Given the description of an element on the screen output the (x, y) to click on. 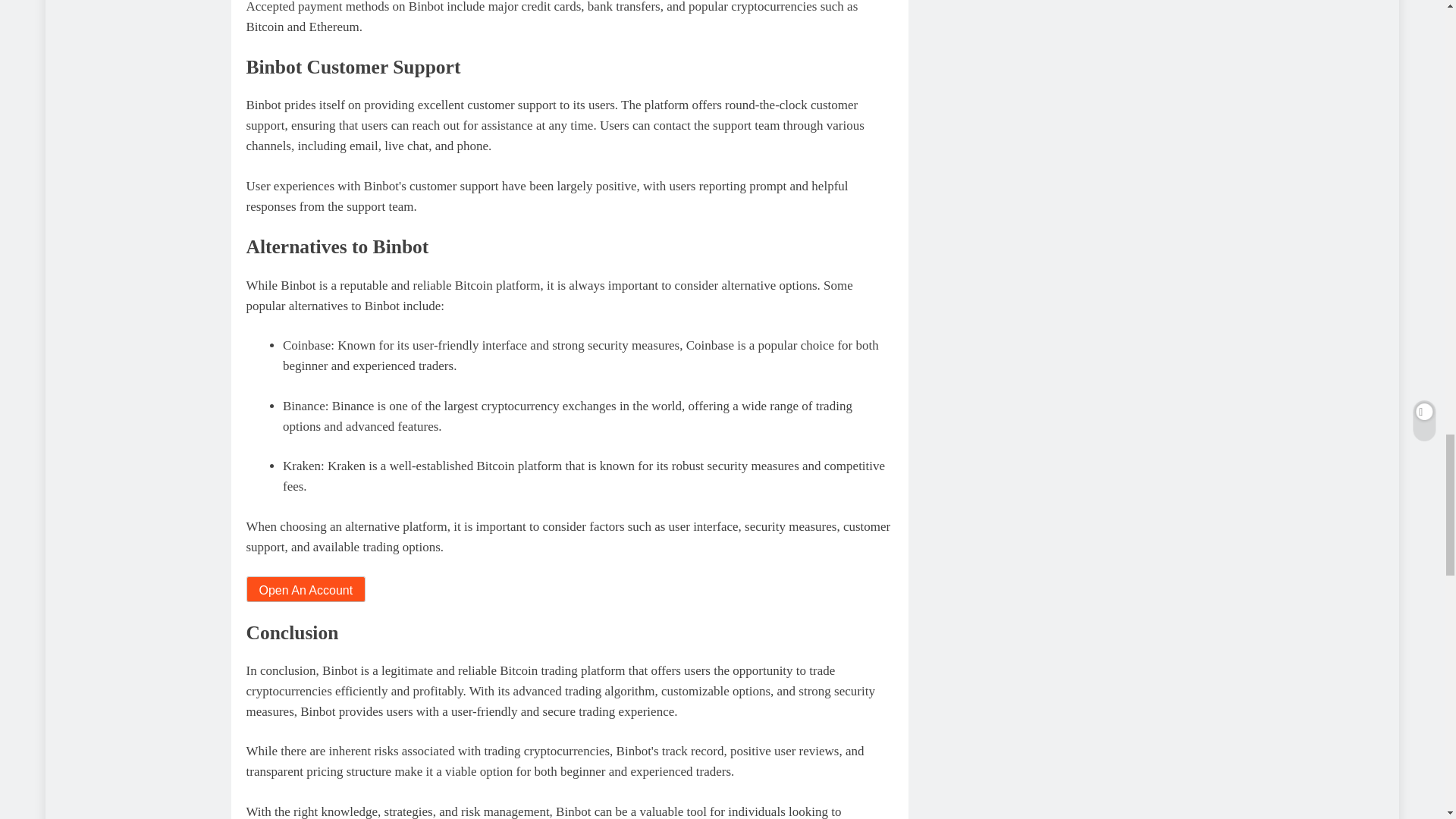
Open An Account (305, 590)
Open An Account (305, 588)
